Given the description of an element on the screen output the (x, y) to click on. 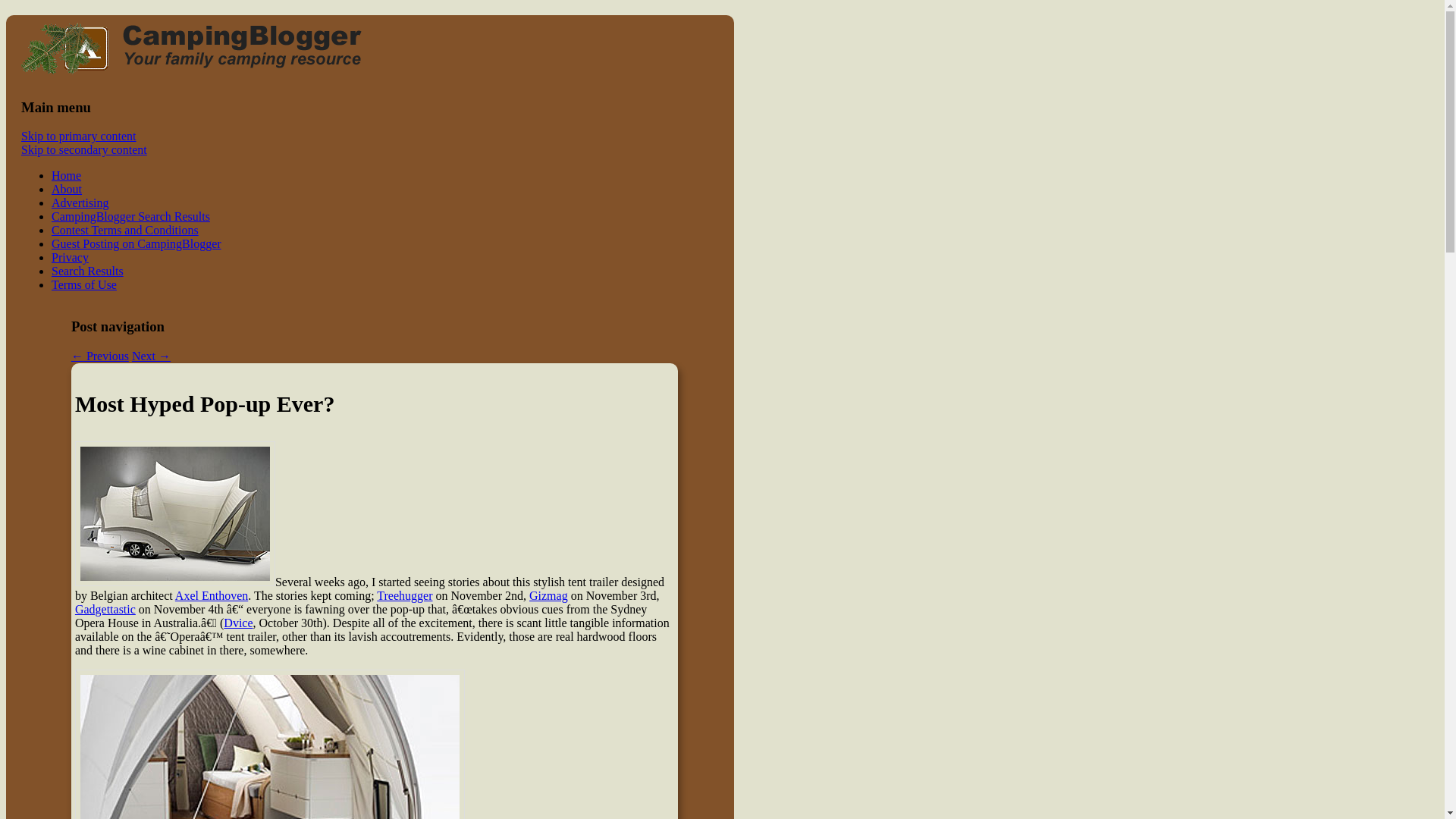
Contest Terms and Conditions (124, 229)
Advertising (79, 202)
Skip to primary content (78, 135)
Skip to primary content (78, 135)
Dvice (237, 622)
CampingBlogger Search Results (129, 215)
Search Results (86, 270)
Skip to secondary content (84, 149)
Axel Enthoven (210, 594)
Terms of Use (83, 284)
Treehugger (404, 594)
Skip to secondary content (84, 149)
opera-pop-up-tent (175, 513)
Home (65, 174)
